Given the description of an element on the screen output the (x, y) to click on. 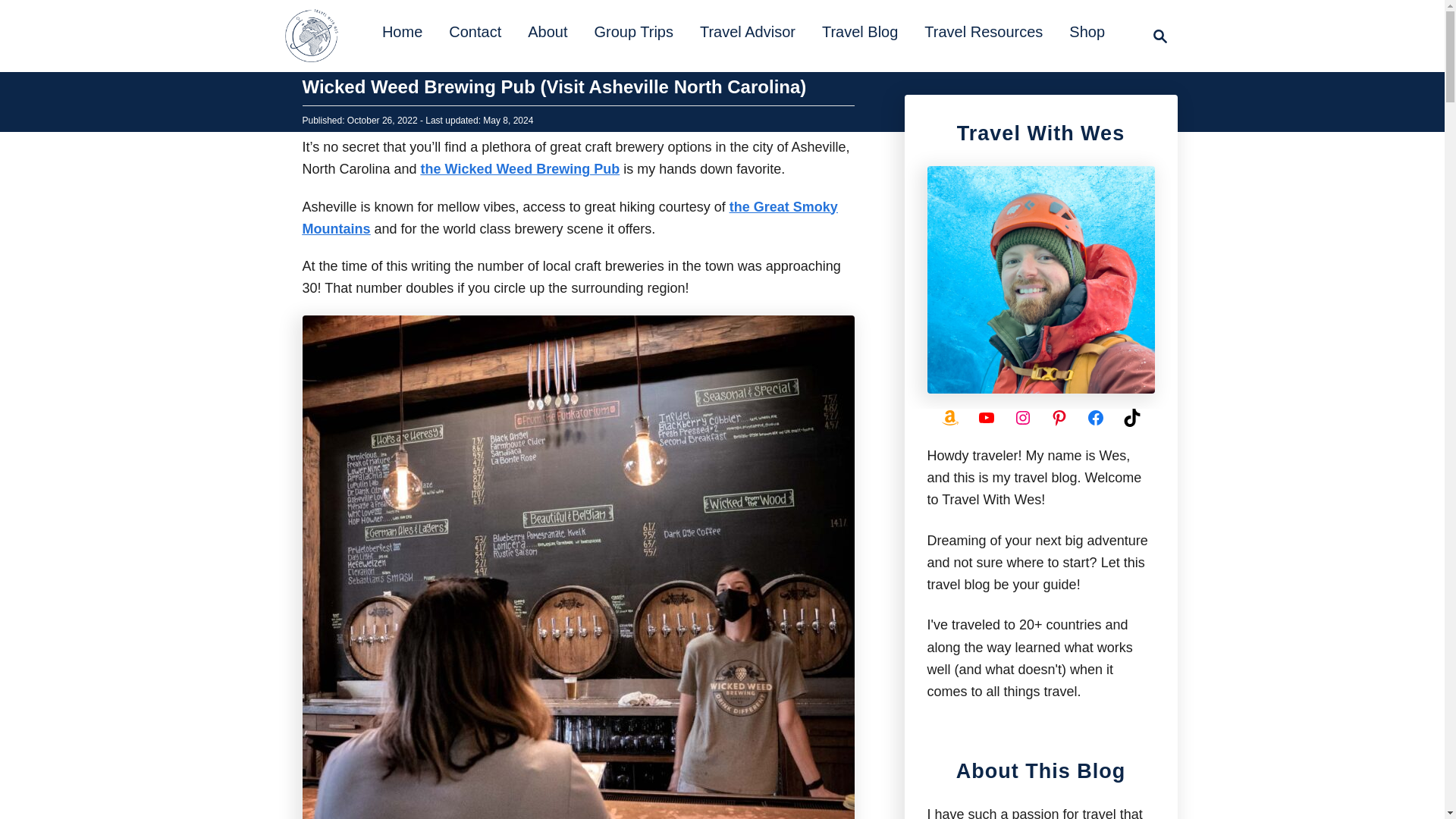
Travel Resources (983, 31)
Group Trips (1155, 36)
Magnifying Glass (632, 31)
Contact (1160, 36)
the Wicked Weed Brewing Pub (474, 31)
Travel Advisor (520, 168)
Home (748, 31)
Travel With Wes (401, 31)
Shop (310, 35)
About (1086, 31)
the Great Smoky Mountains (547, 31)
Travel Blog (569, 217)
